Given the description of an element on the screen output the (x, y) to click on. 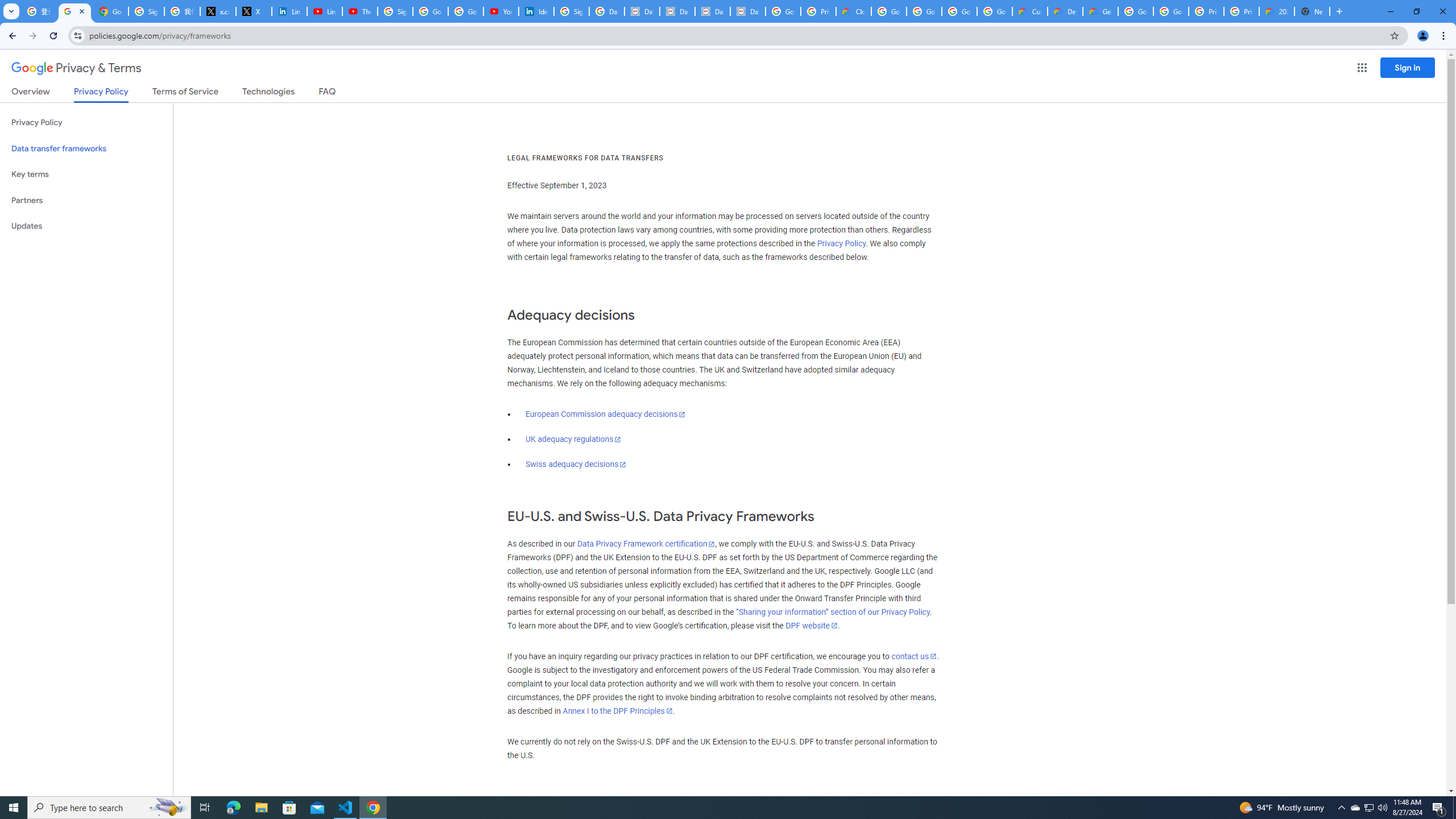
Annex I to the DPF Principles (617, 710)
Google Cloud Platform (1170, 11)
Sign in - Google Accounts (394, 11)
contact us (913, 656)
Customer Care | Google Cloud (1029, 11)
